Given the description of an element on the screen output the (x, y) to click on. 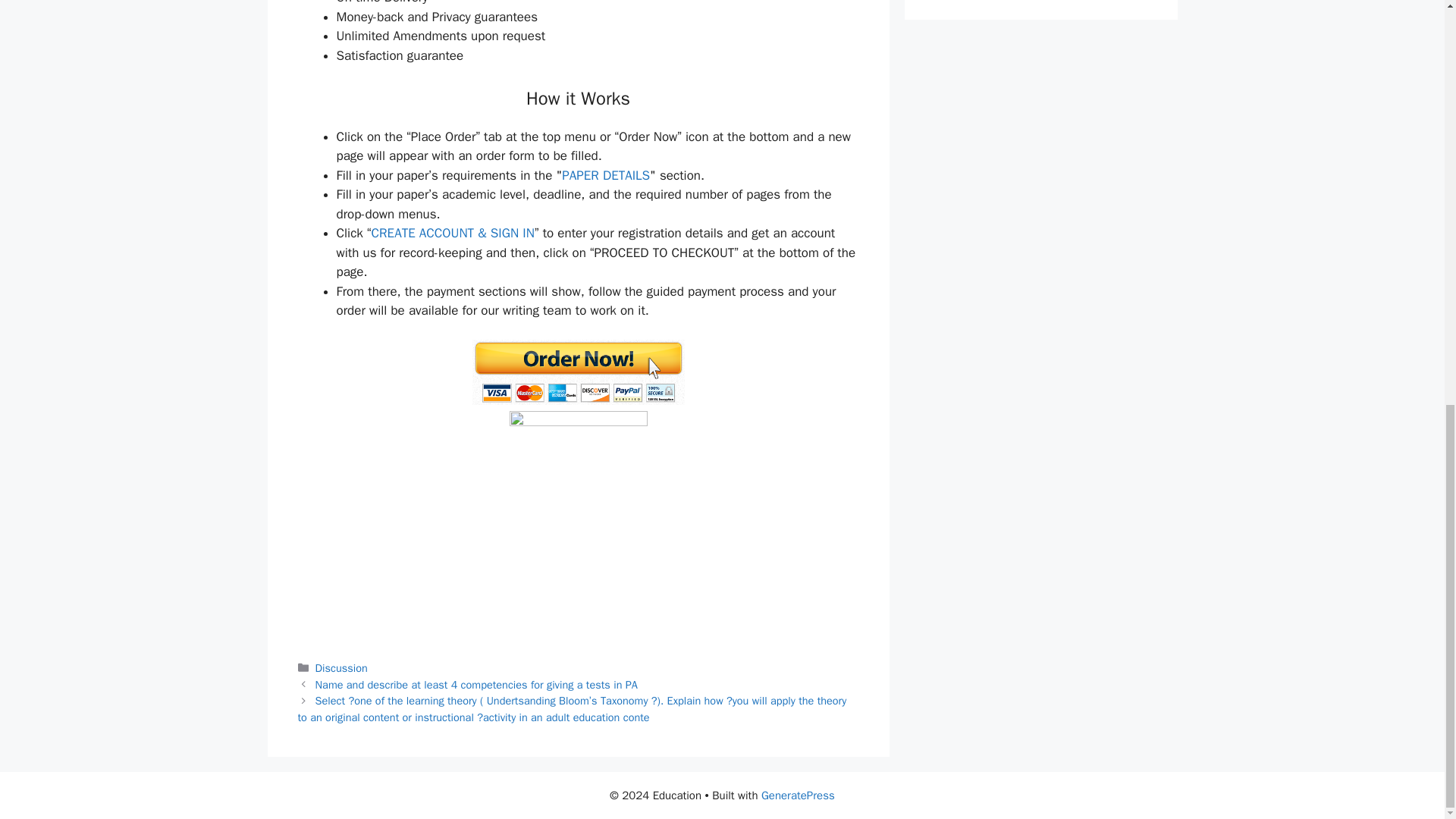
GeneratePress (797, 795)
Discussion (341, 667)
PAPER DETAILS (605, 175)
